Given the description of an element on the screen output the (x, y) to click on. 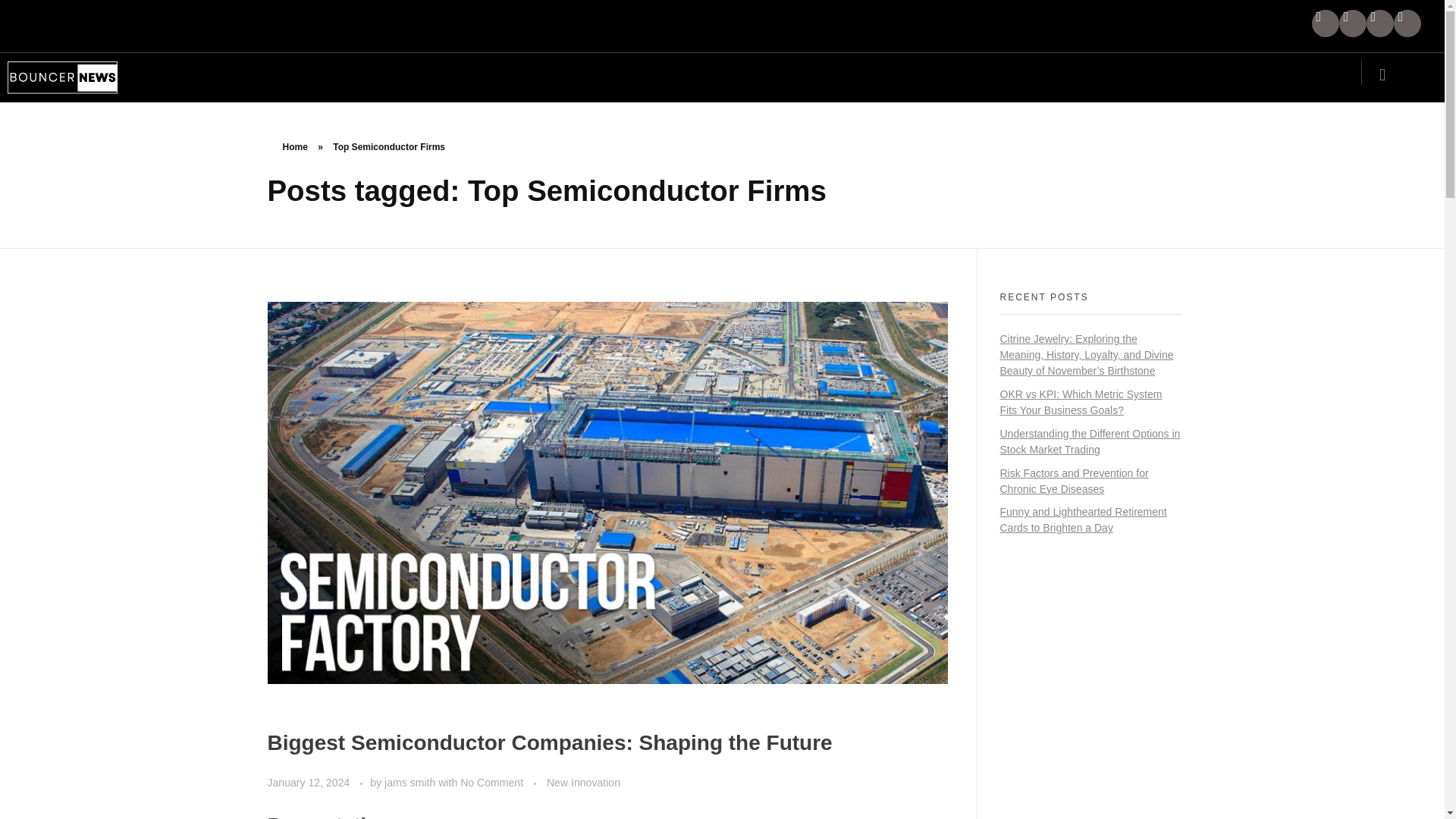
Funny and Lighthearted Retirement Cards to Brighten a Day (1082, 519)
jams smith (411, 782)
Understanding the Different Options in Stock Market Trading (1088, 441)
OKR vs KPI: Which Metric System Fits Your Business Goals? (1079, 402)
View all posts in New Innovation (583, 782)
January 12, 2024 (309, 782)
View all posts by jams smith (411, 782)
New Innovation (583, 782)
Biggest Semiconductor Companies: Shaping the Future (548, 742)
No Comment (491, 782)
Risk Factors and Prevention for Chronic Eye Diseases (1073, 480)
Home (294, 146)
